Given the description of an element on the screen output the (x, y) to click on. 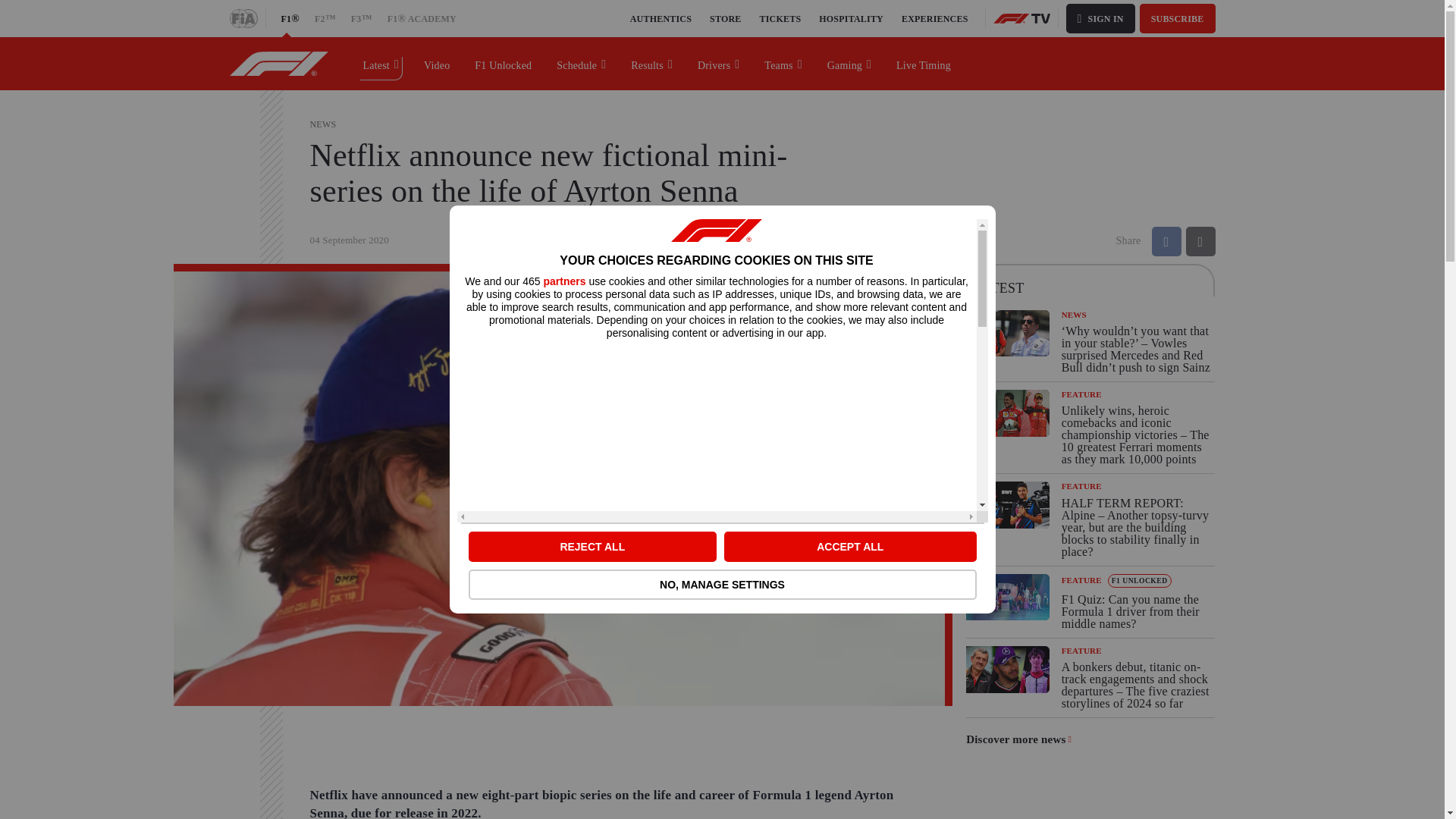
Drivers (718, 63)
SIGN IN (1100, 18)
Teams (782, 63)
Schedule (581, 63)
TICKETS (781, 18)
SUBSCRIBE (1177, 18)
EXPERIENCES (934, 18)
Live Timing (923, 63)
Gaming (849, 63)
